Given the description of an element on the screen output the (x, y) to click on. 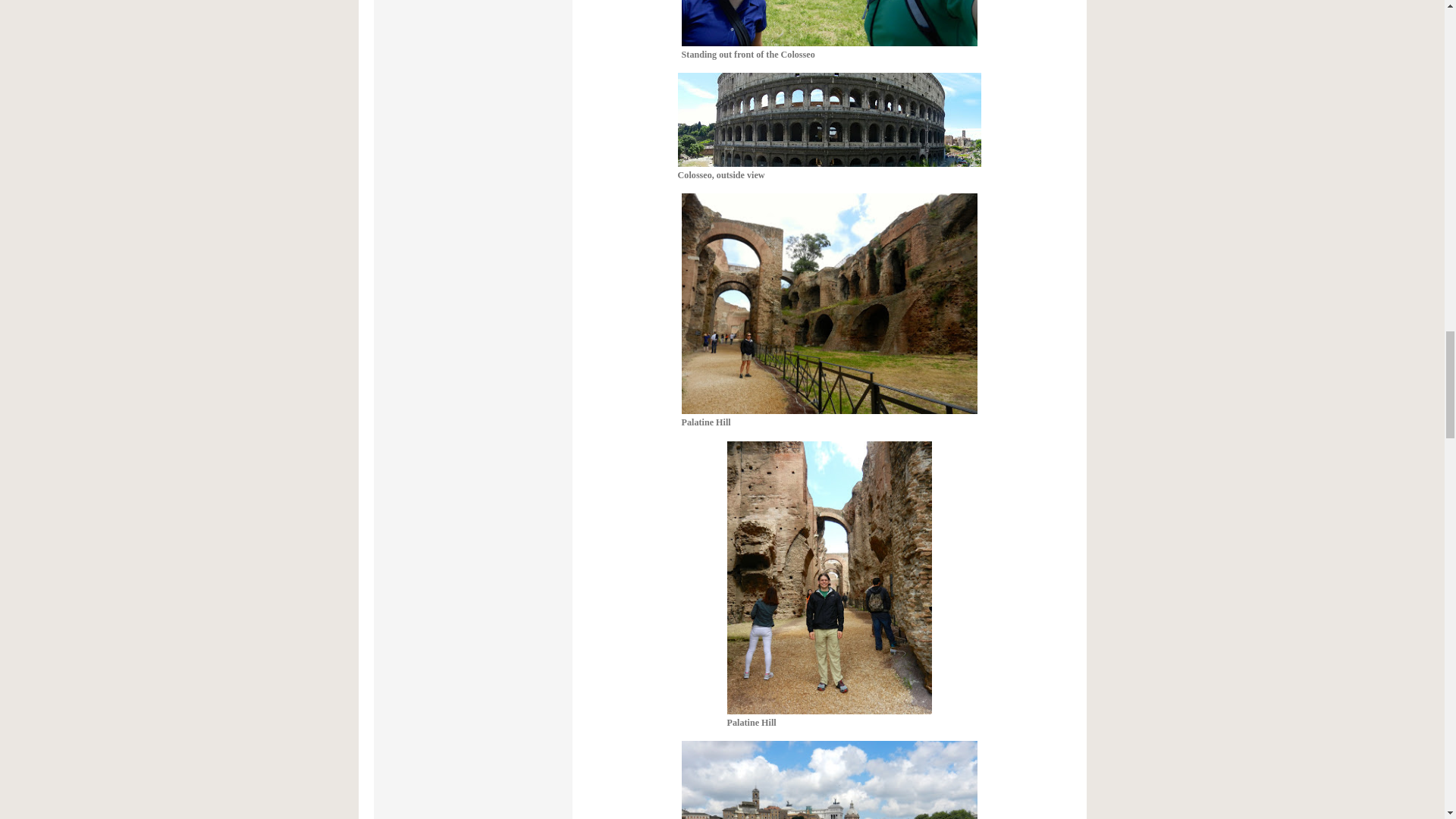
Overlooking the Roman Forum (828, 780)
Colosseo, outside view (829, 126)
Standing out front of the Colosseo (828, 29)
Palatine Hill (828, 310)
